Given the description of an element on the screen output the (x, y) to click on. 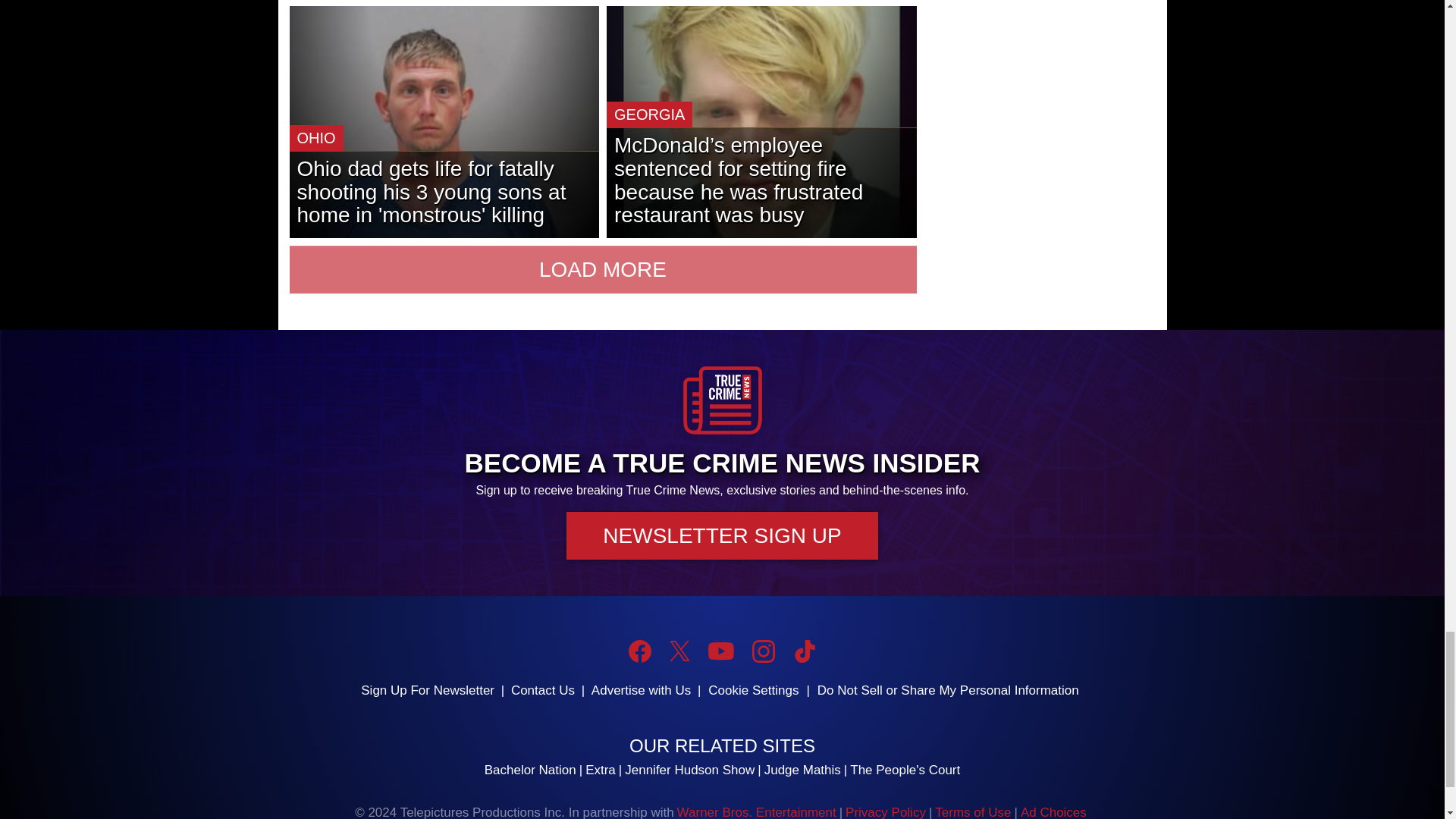
Twitter (679, 650)
Facebook (639, 650)
Instagram (763, 650)
TikTok (804, 650)
YouTube (720, 651)
